Given the description of an element on the screen output the (x, y) to click on. 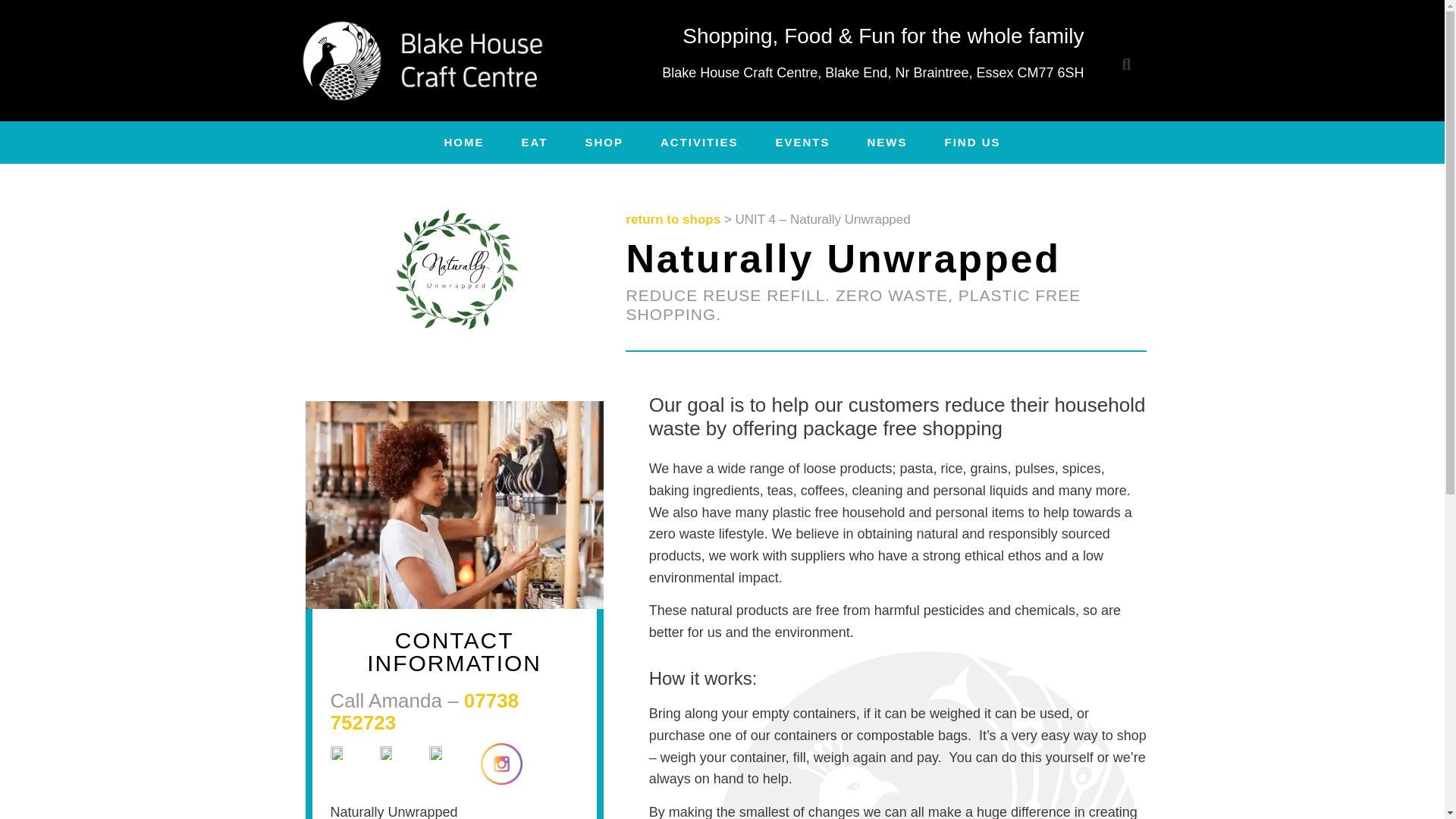
SHOP (604, 142)
NEWS (886, 142)
HOME (464, 142)
EAT (534, 142)
return to shops (673, 219)
Click to call (424, 711)
EVENTS (802, 142)
07738 752723 (424, 711)
Follow us on Instagram (503, 764)
FIND US (971, 142)
